Given the description of an element on the screen output the (x, y) to click on. 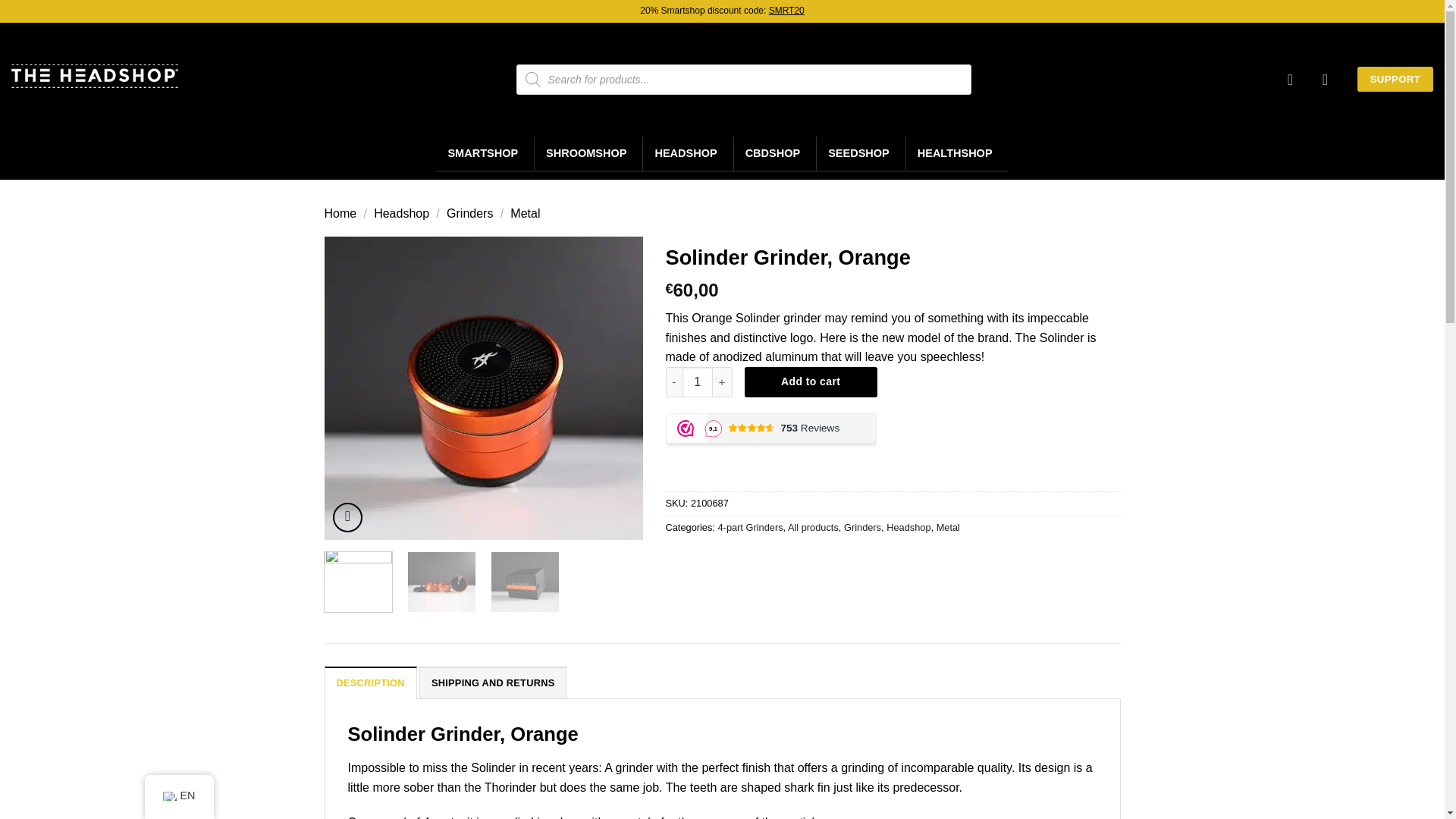
English (168, 795)
Zoom (347, 517)
SMARTSHOP (484, 153)
1 (697, 381)
The Headshop Amsterdam (94, 75)
SUPPORT (1394, 79)
SHROOMSHOP (588, 153)
